Given the description of an element on the screen output the (x, y) to click on. 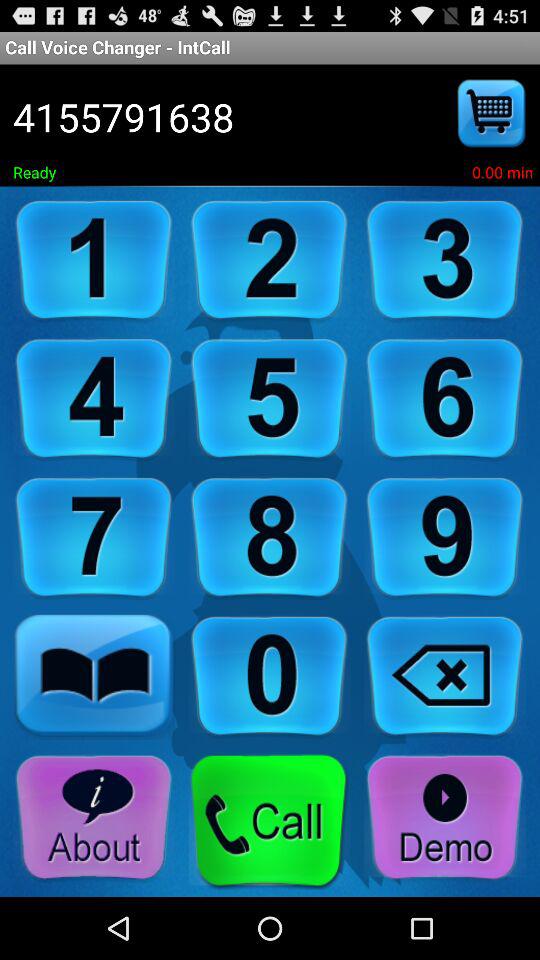
error option (445, 676)
